Given the description of an element on the screen output the (x, y) to click on. 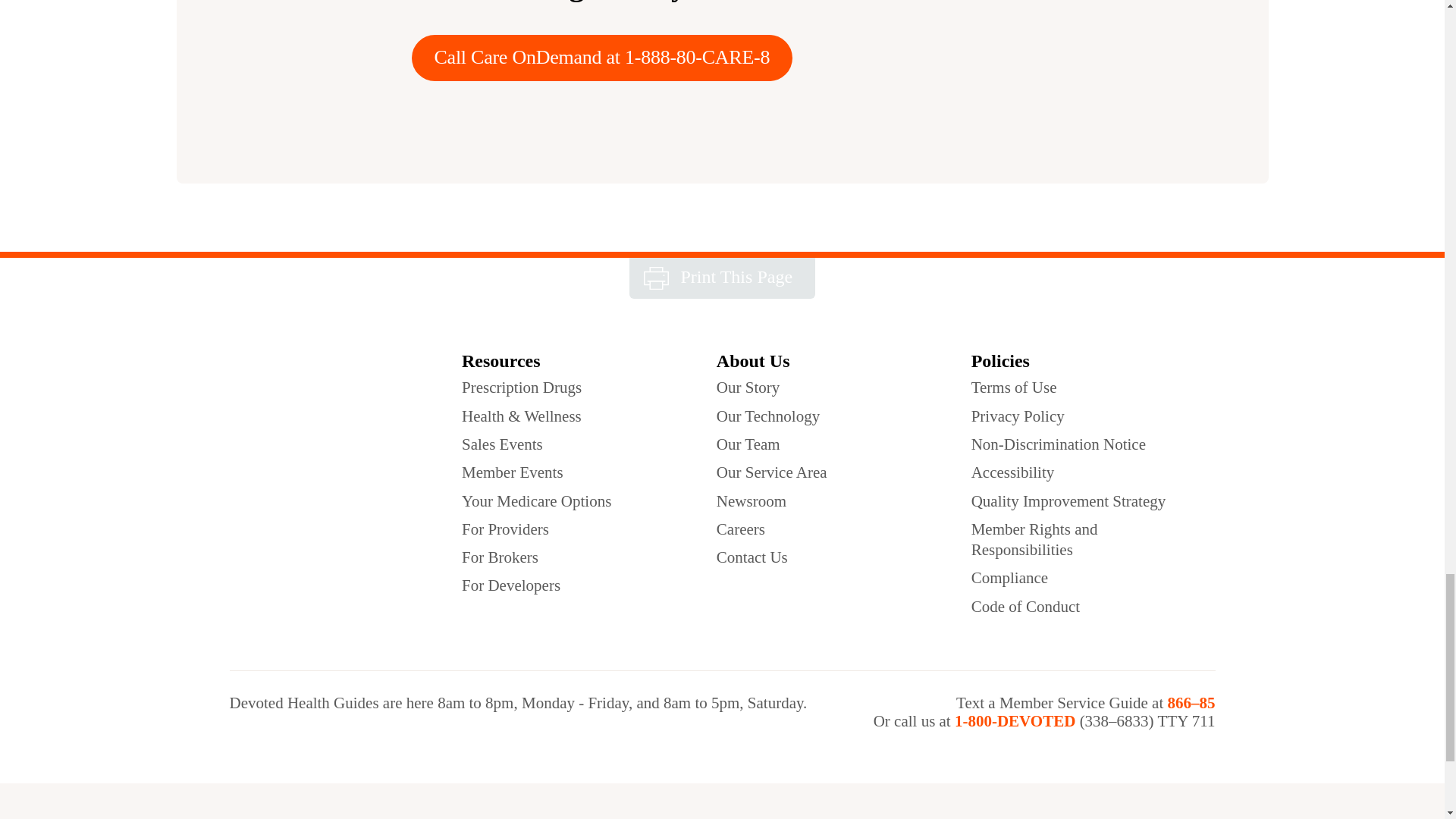
Our Story (747, 387)
For Brokers (499, 557)
Member Events (512, 472)
Our Technology (767, 416)
Your Medicare Options (536, 501)
Prescription Drugs (520, 387)
Call Care OnDemand at 1-888-80-CARE-8 (601, 57)
For Developers (510, 585)
Sales Events (502, 444)
For Providers (504, 529)
Print This Page (721, 278)
